Given the description of an element on the screen output the (x, y) to click on. 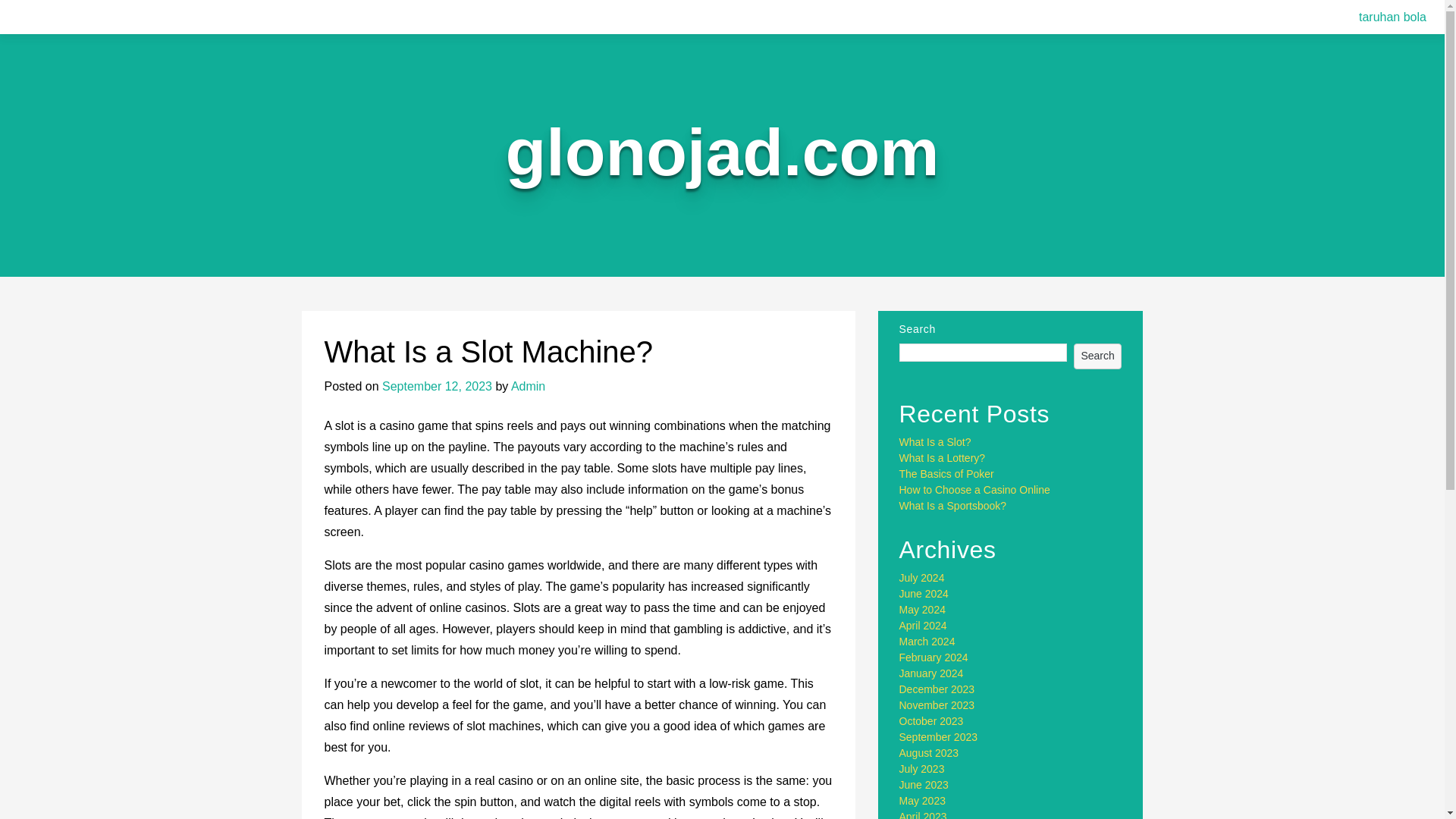
July 2023 (921, 768)
Admin (527, 386)
February 2024 (933, 657)
taruhan bola (1392, 16)
Search (1098, 356)
What Is a Slot? (935, 441)
What Is a Lottery? (942, 458)
June 2024 (924, 593)
September 12, 2023 (436, 386)
April 2023 (923, 814)
May 2023 (921, 800)
The Basics of Poker (946, 473)
December 2023 (937, 689)
taruhan bola (1392, 16)
January 2024 (931, 673)
